Given the description of an element on the screen output the (x, y) to click on. 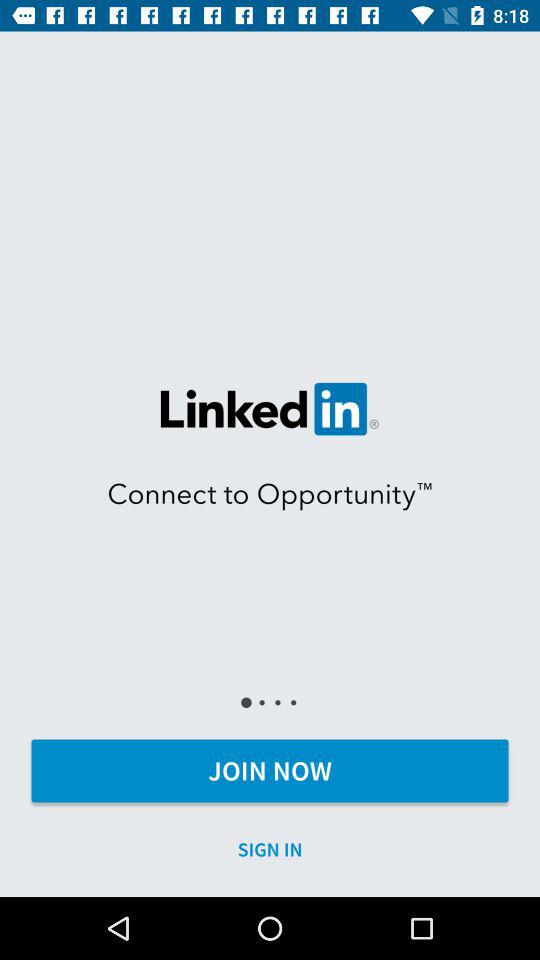
select join now item (269, 770)
